Given the description of an element on the screen output the (x, y) to click on. 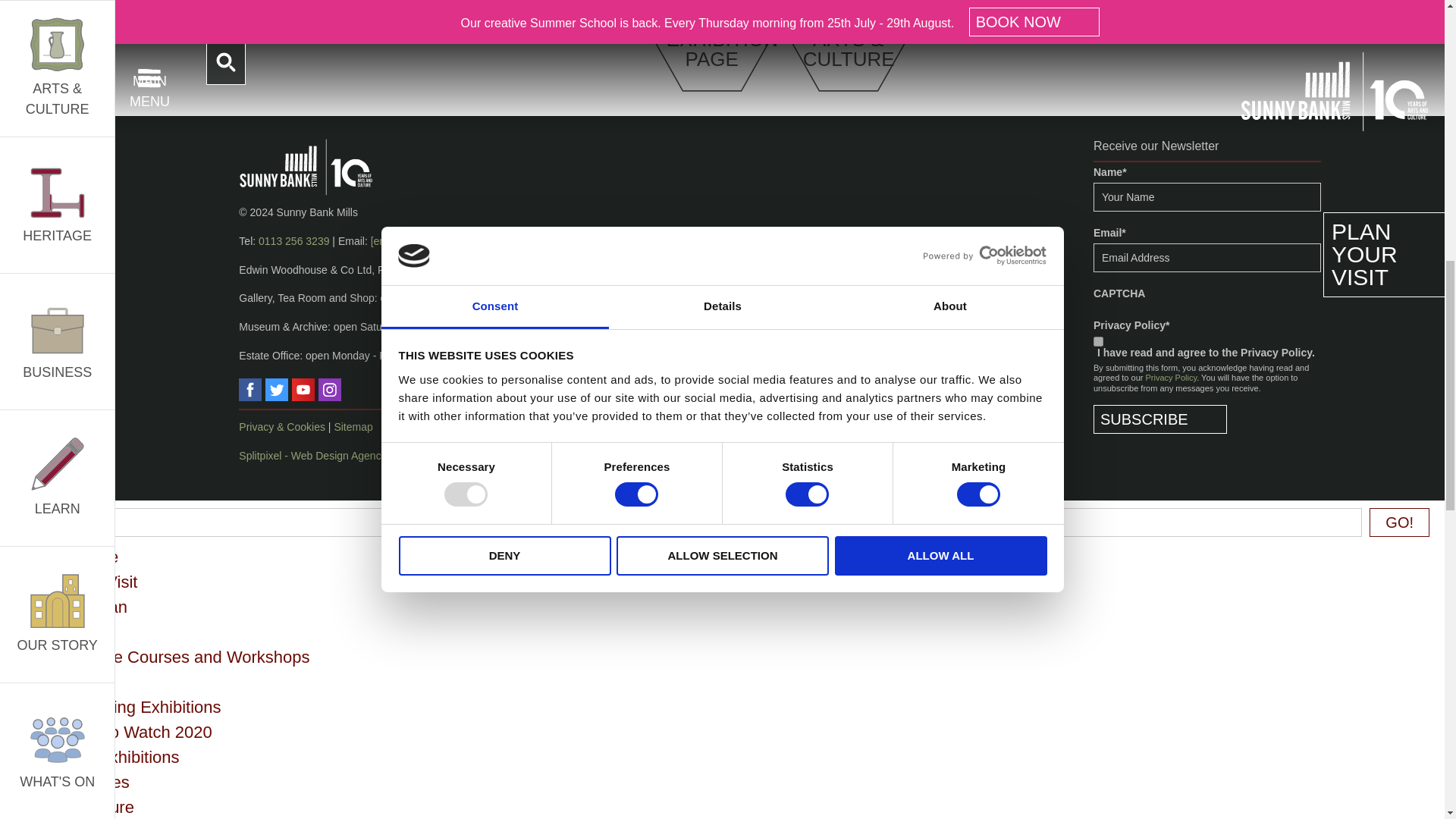
Go! (1399, 522)
Go! (1399, 522)
Subscribe (1160, 419)
1 (1098, 341)
